Given the description of an element on the screen output the (x, y) to click on. 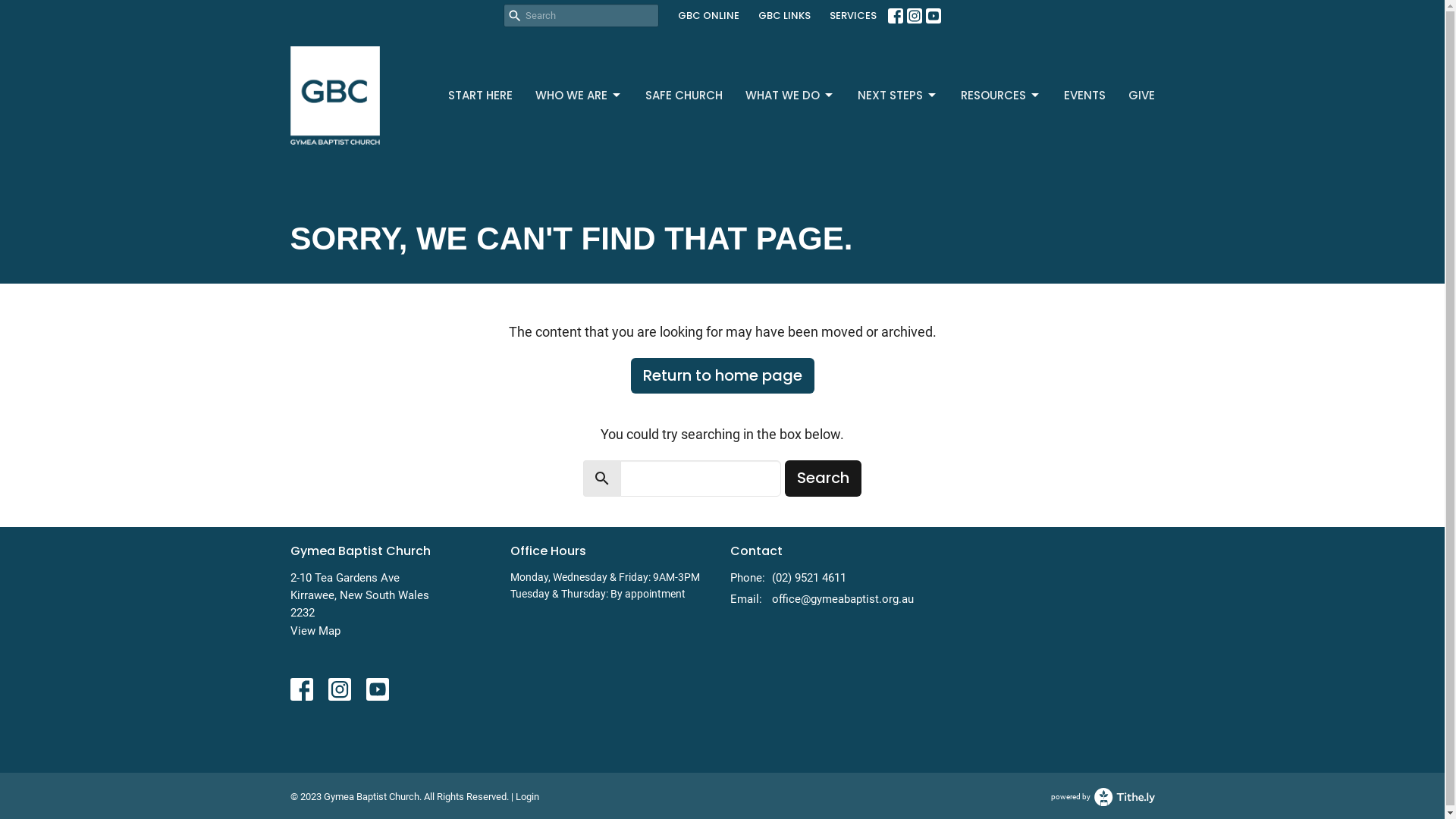
WHAT WE DO Element type: text (789, 94)
EVENTS Element type: text (1083, 94)
View Map Element type: text (314, 630)
SERVICES Element type: text (853, 15)
GBC ONLINE Element type: text (708, 15)
NEXT STEPS Element type: text (896, 94)
GIVE Element type: text (1141, 94)
RESOURCES Element type: text (1000, 94)
(02) 9521 4611 Element type: text (808, 577)
GBC LINKS Element type: text (784, 15)
office@gymeabaptist.org.au Element type: text (842, 599)
Return to home page Element type: text (722, 375)
WHO WE ARE Element type: text (578, 94)
powered by
Website Developed by Tithely Element type: text (1102, 796)
Search Element type: text (822, 478)
Login Element type: text (527, 796)
SAFE CHURCH Element type: text (682, 94)
START HERE Element type: text (479, 94)
